Given the description of an element on the screen output the (x, y) to click on. 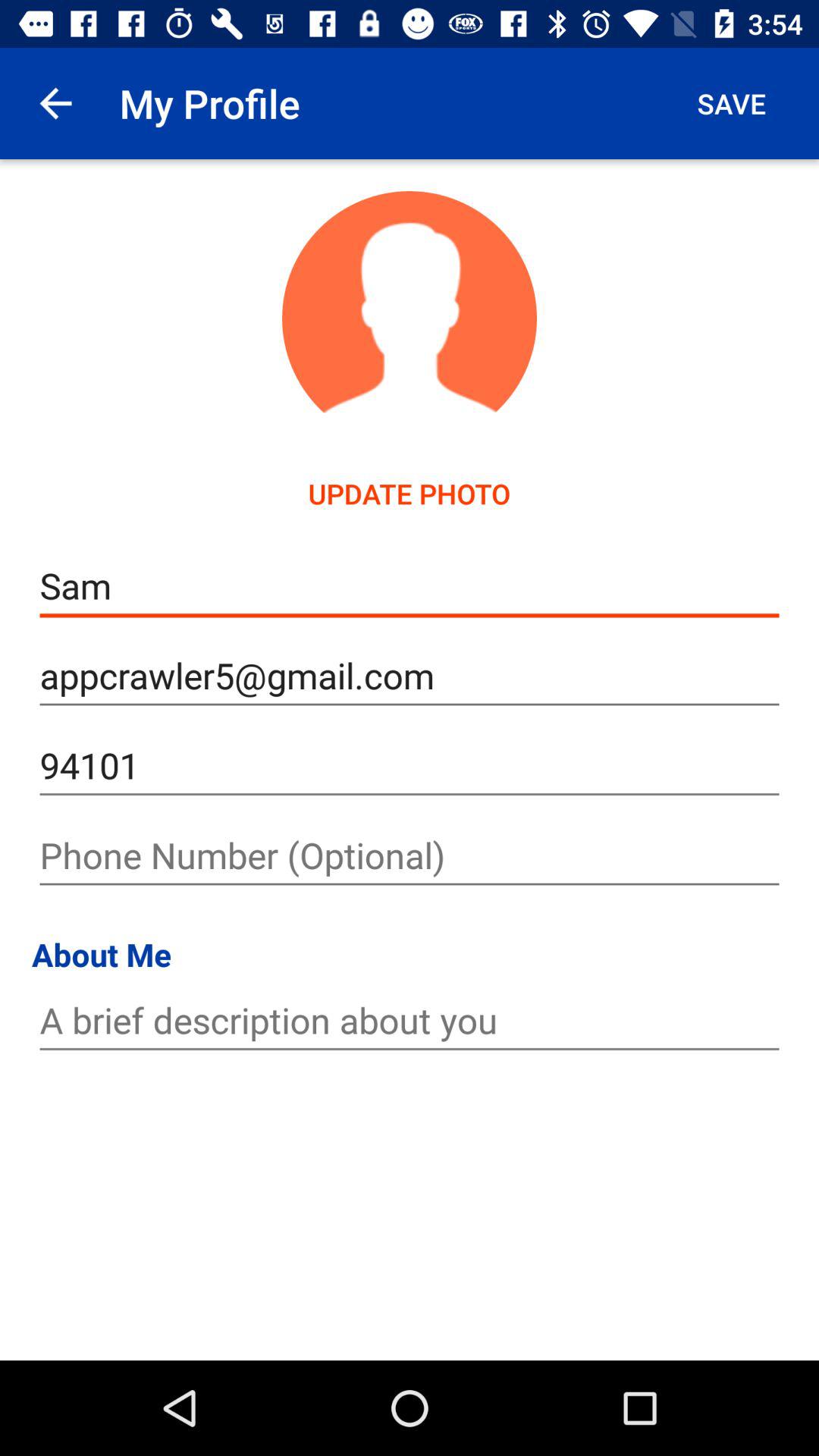
enter phone number (409, 855)
